Given the description of an element on the screen output the (x, y) to click on. 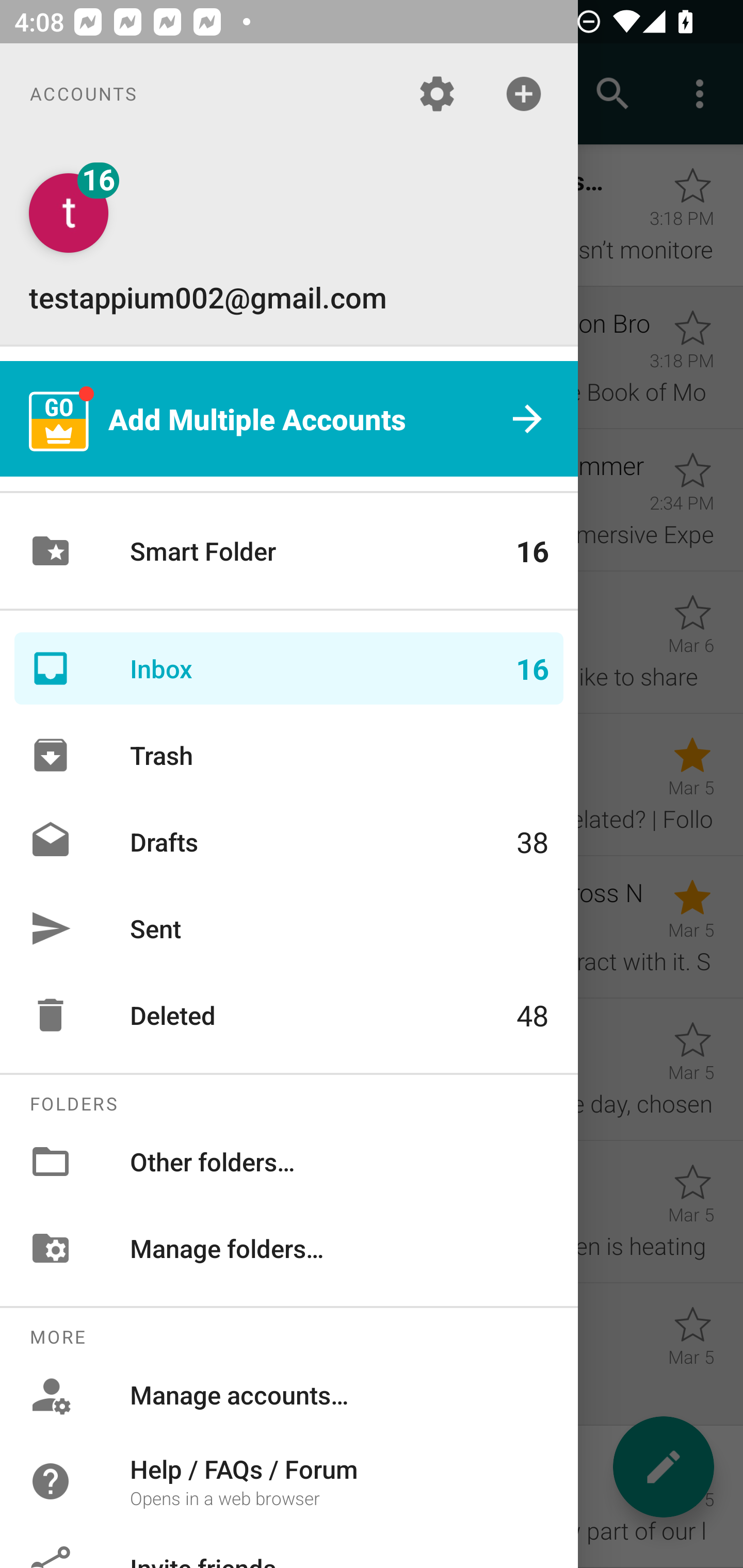
testappium002@gmail.com (289, 244)
Add Multiple Accounts (289, 418)
Smart Folder 16 (289, 551)
Inbox 16 (289, 668)
Trash (289, 754)
Drafts 38 (289, 841)
Sent (289, 928)
Deleted 48 (289, 1015)
Other folders… (289, 1160)
Manage folders… (289, 1248)
Manage accounts… (289, 1394)
Help / FAQs / Forum Opens in a web browser (289, 1480)
